Given the description of an element on the screen output the (x, y) to click on. 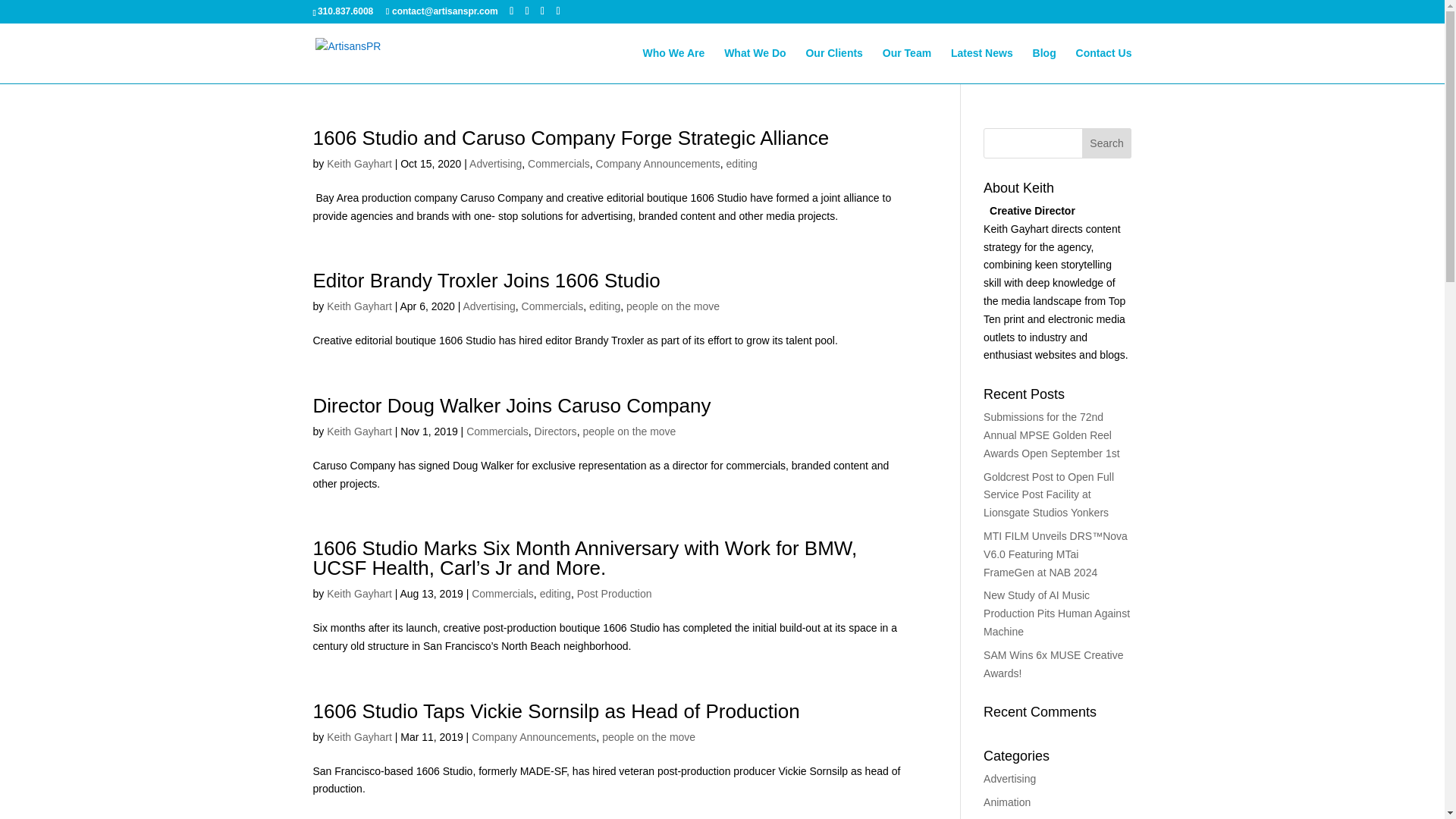
people on the move (672, 306)
editing (555, 593)
Our Clients (833, 65)
Directors (555, 431)
editing (741, 163)
Advertising (494, 163)
Contact Us (1103, 65)
Keith Gayhart (358, 593)
Search (1106, 142)
1606 Studio and Caruso Company Forge Strategic Alliance (570, 137)
people on the move (628, 431)
Director Doug Walker Joins Caruso Company (511, 404)
Posts by Keith Gayhart (358, 431)
Keith Gayhart (358, 431)
Advertising (489, 306)
